Given the description of an element on the screen output the (x, y) to click on. 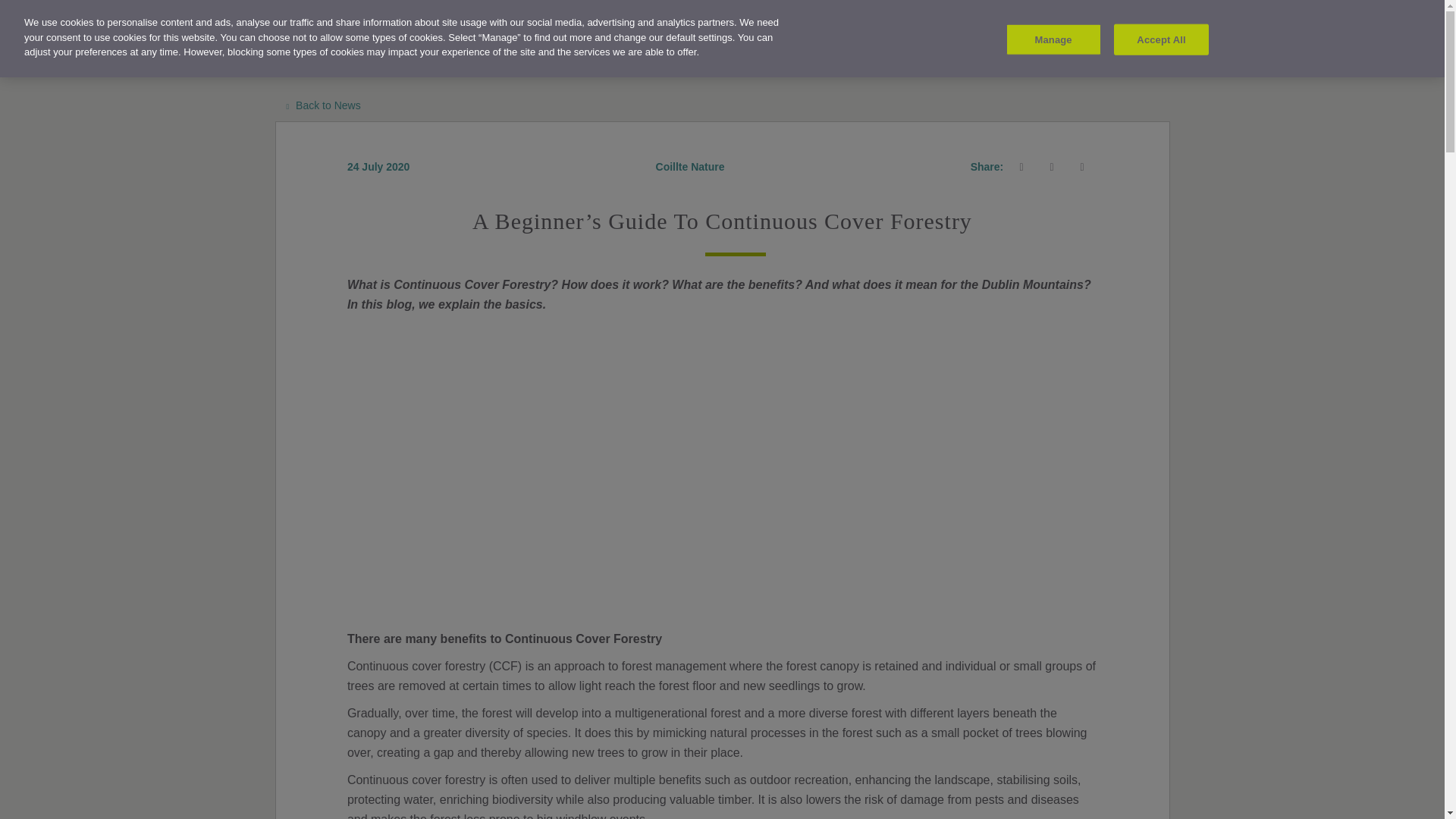
VISIT OUR FORESTS (253, 34)
COILLTE NATURE (375, 34)
WHAT WE DO (478, 34)
